Given the description of an element on the screen output the (x, y) to click on. 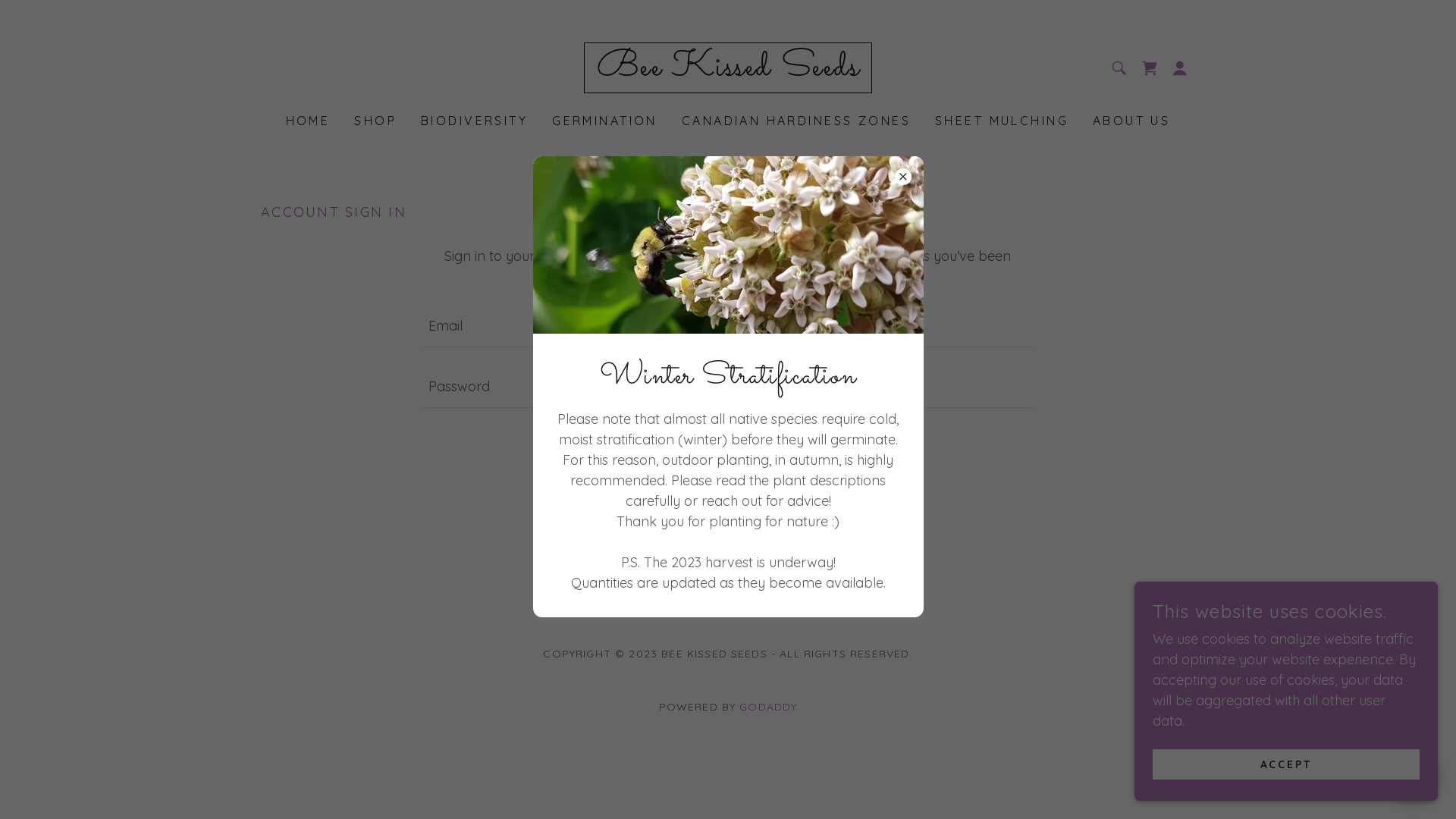
ACCEPT Element type: text (1285, 764)
GERMINATION Element type: text (604, 120)
Reset password Element type: text (727, 495)
ABOUT US Element type: text (1131, 120)
GODADDY Element type: text (768, 706)
BIODIVERSITY Element type: text (474, 120)
SHEET MULCHING Element type: text (1001, 120)
SHOP Element type: text (375, 120)
HOME Element type: text (308, 120)
Create account. Element type: text (780, 544)
Bee Kissed Seeds Element type: text (727, 69)
CANADIAN HARDINESS ZONES Element type: text (796, 120)
SIGN IN Element type: text (727, 447)
